Given the description of an element on the screen output the (x, y) to click on. 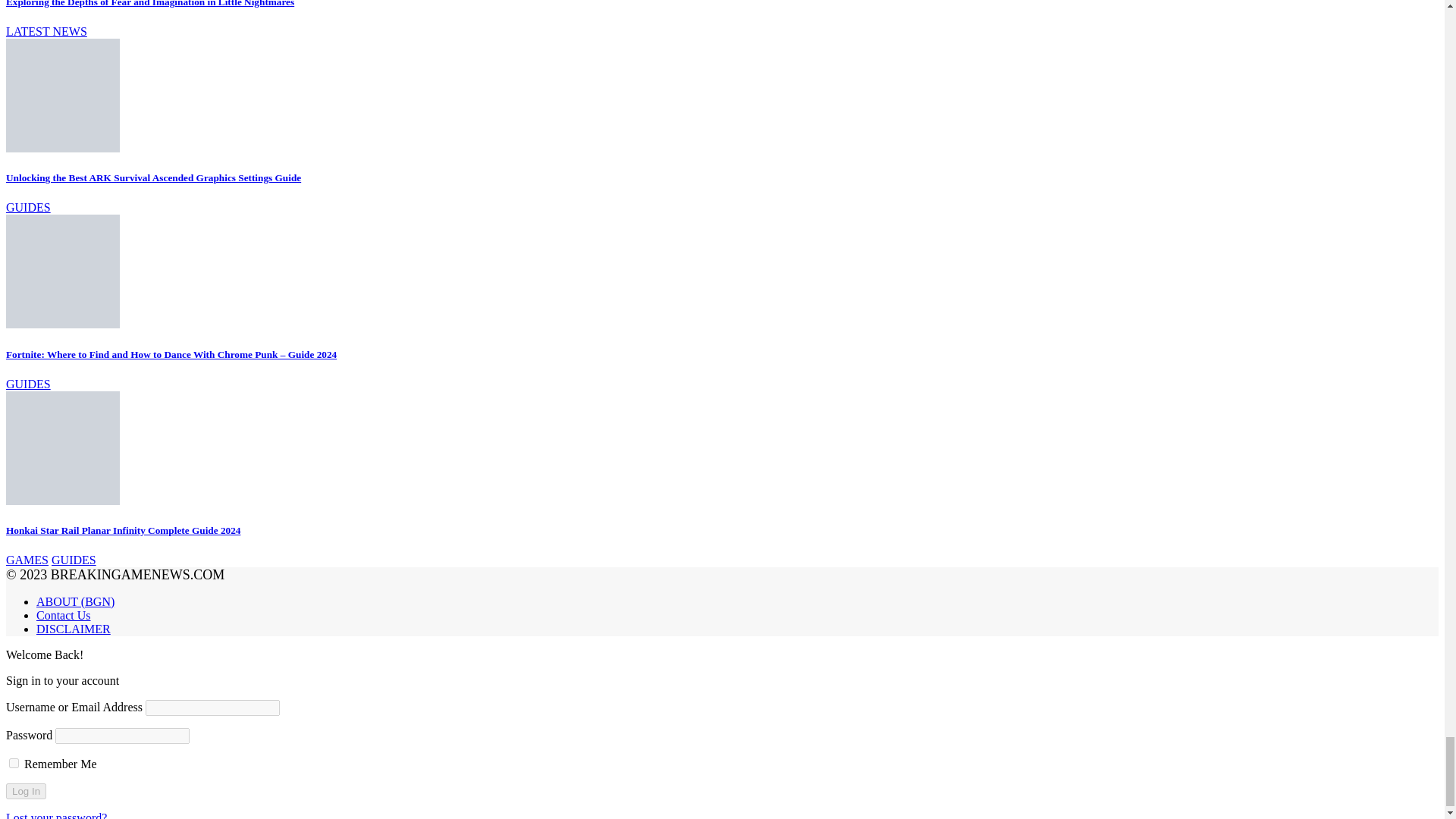
Log In (25, 790)
forever (13, 763)
